Given the description of an element on the screen output the (x, y) to click on. 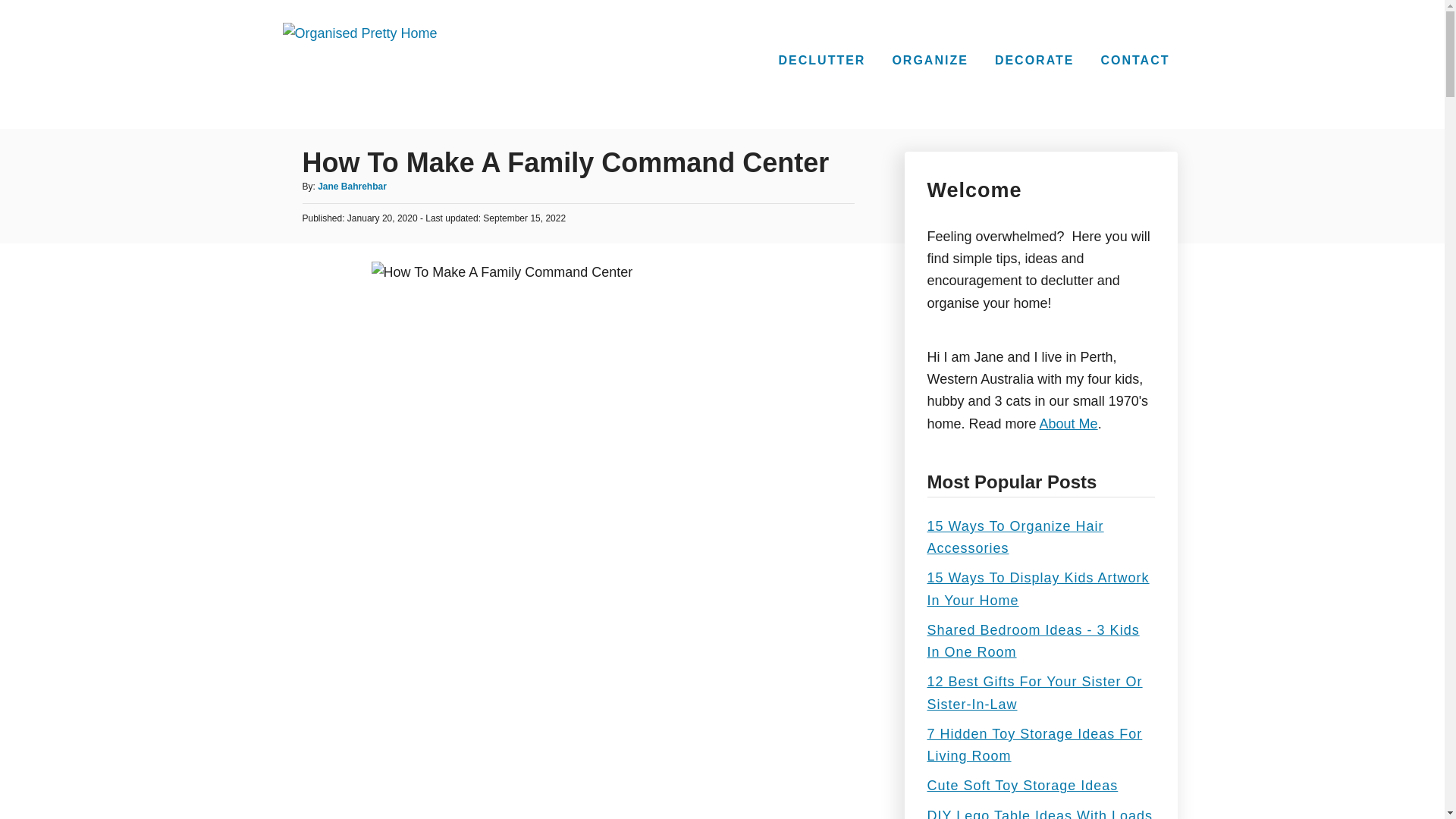
ORGANIZE (929, 60)
DECORATE (1034, 60)
Organised Pretty Home (359, 64)
DECLUTTER (822, 60)
CONTACT (1134, 60)
Jane Bahrehbar (352, 185)
